Given the description of an element on the screen output the (x, y) to click on. 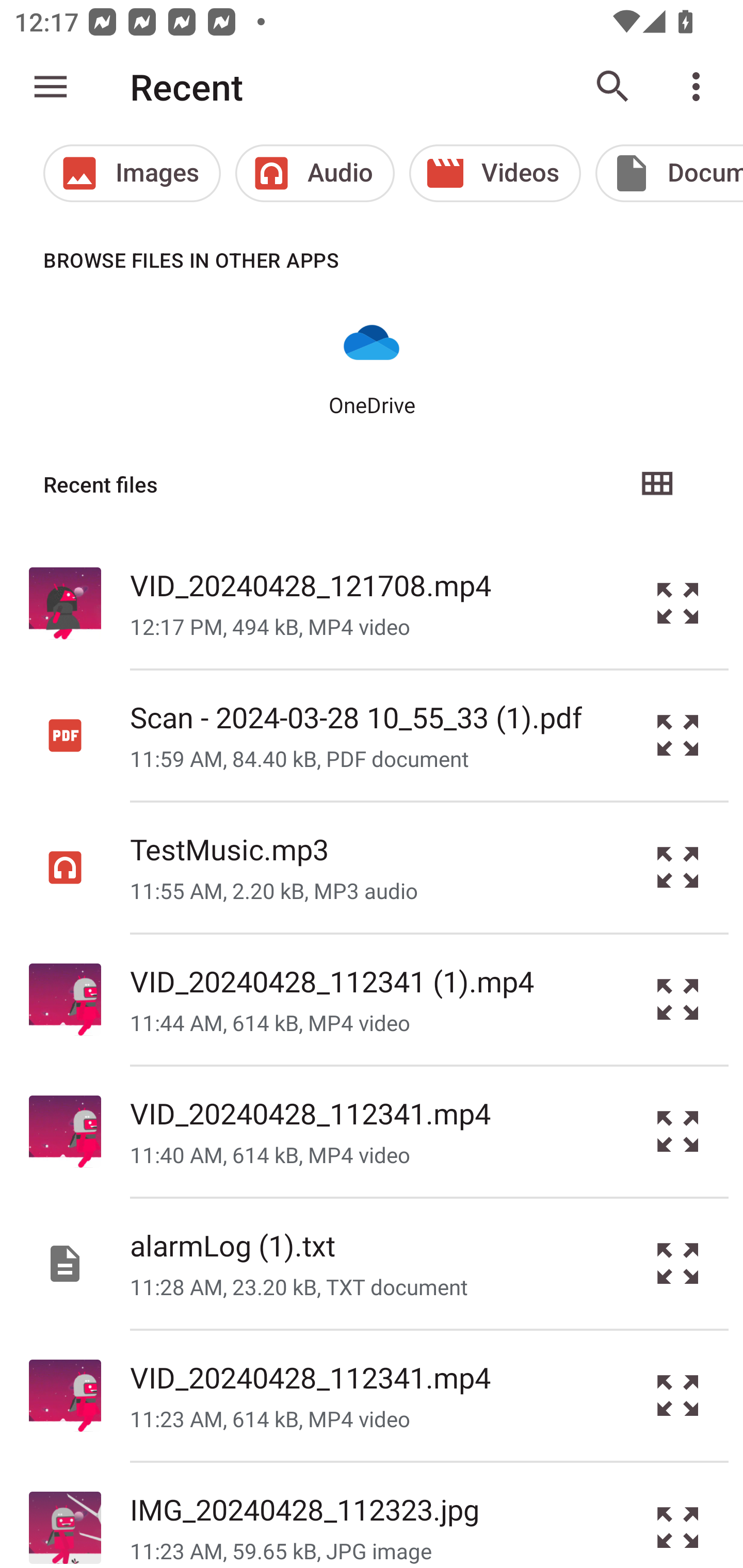
Show roots (50, 86)
Search (612, 86)
More options (699, 86)
Images (131, 173)
Audio (314, 173)
Videos (495, 173)
Documents (669, 173)
OneDrive (371, 365)
Grid view (655, 484)
Preview the file VID_20240428_121708.mp4 (677, 602)
Preview the file TestMusic.mp3 (677, 867)
Preview the file VID_20240428_112341 (1).mp4 (677, 999)
Preview the file VID_20240428_112341.mp4 (677, 1131)
Preview the file alarmLog (1).txt (677, 1262)
Preview the file VID_20240428_112341.mp4 (677, 1396)
Preview the file IMG_20240428_112323.jpg (677, 1515)
